Given the description of an element on the screen output the (x, y) to click on. 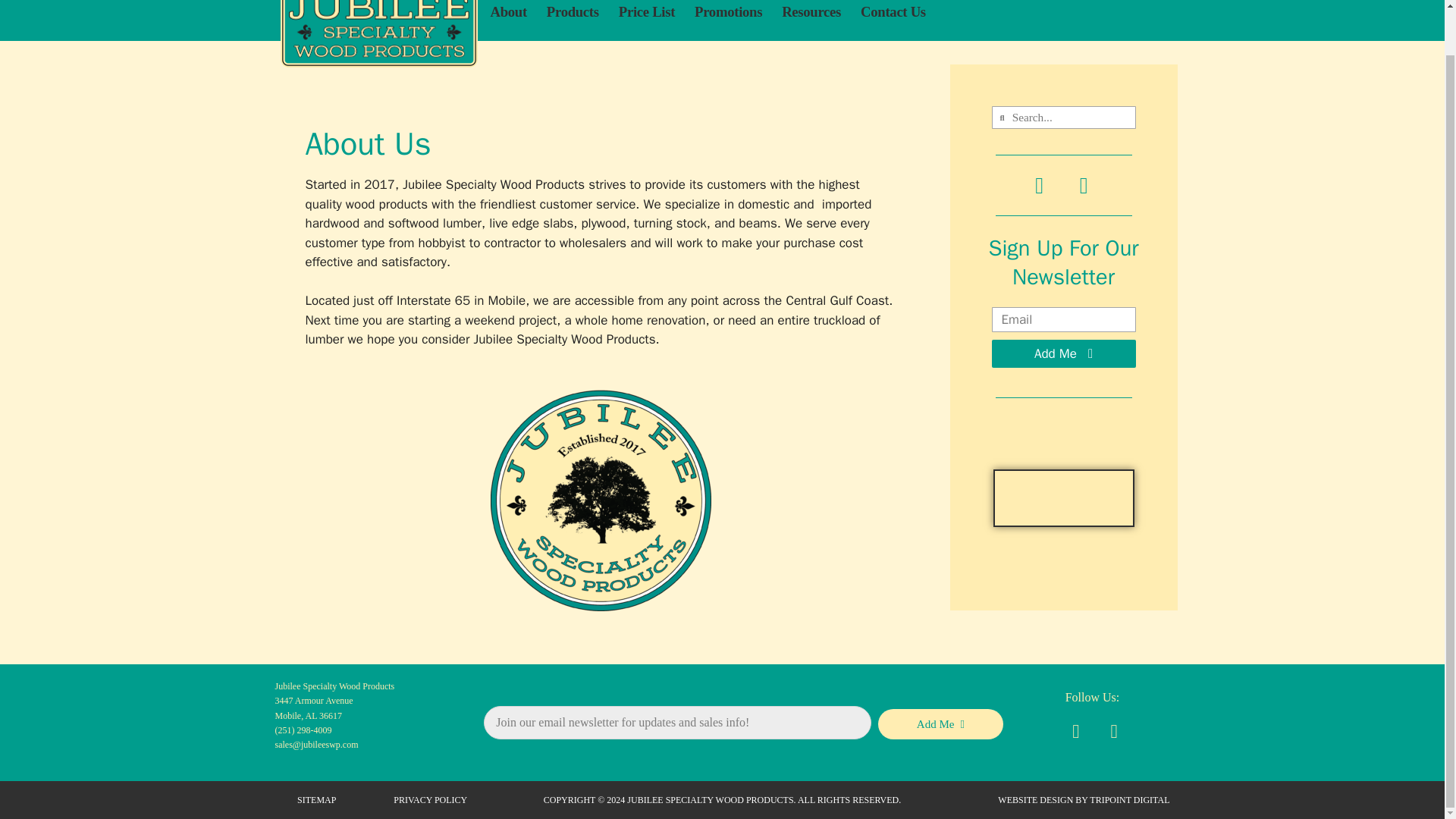
Contact Us (893, 11)
Price List (646, 11)
Promotions (727, 11)
Resources (811, 11)
About (507, 11)
Products (572, 11)
